Given the description of an element on the screen output the (x, y) to click on. 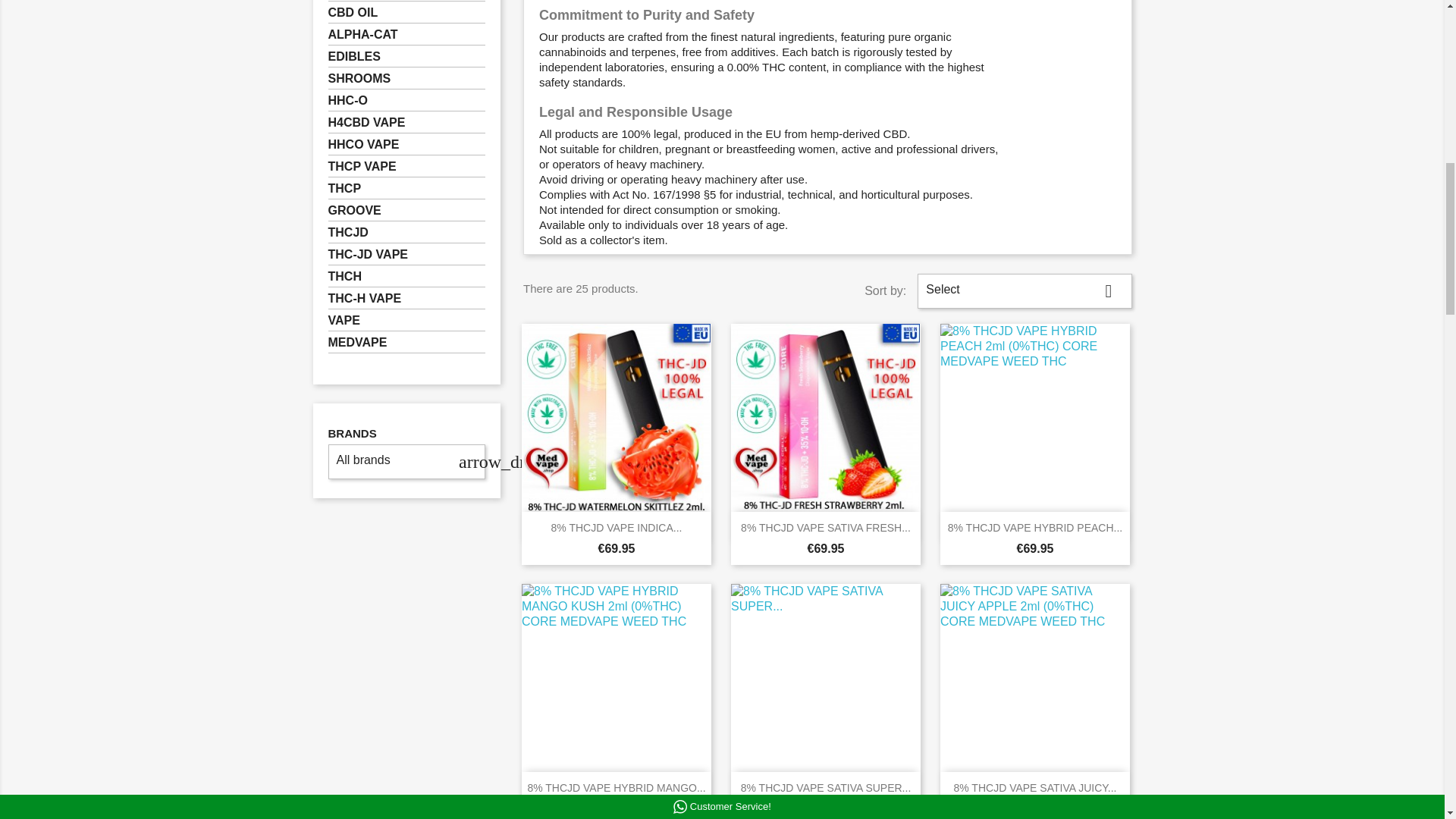
Brands (351, 433)
